Given the description of an element on the screen output the (x, y) to click on. 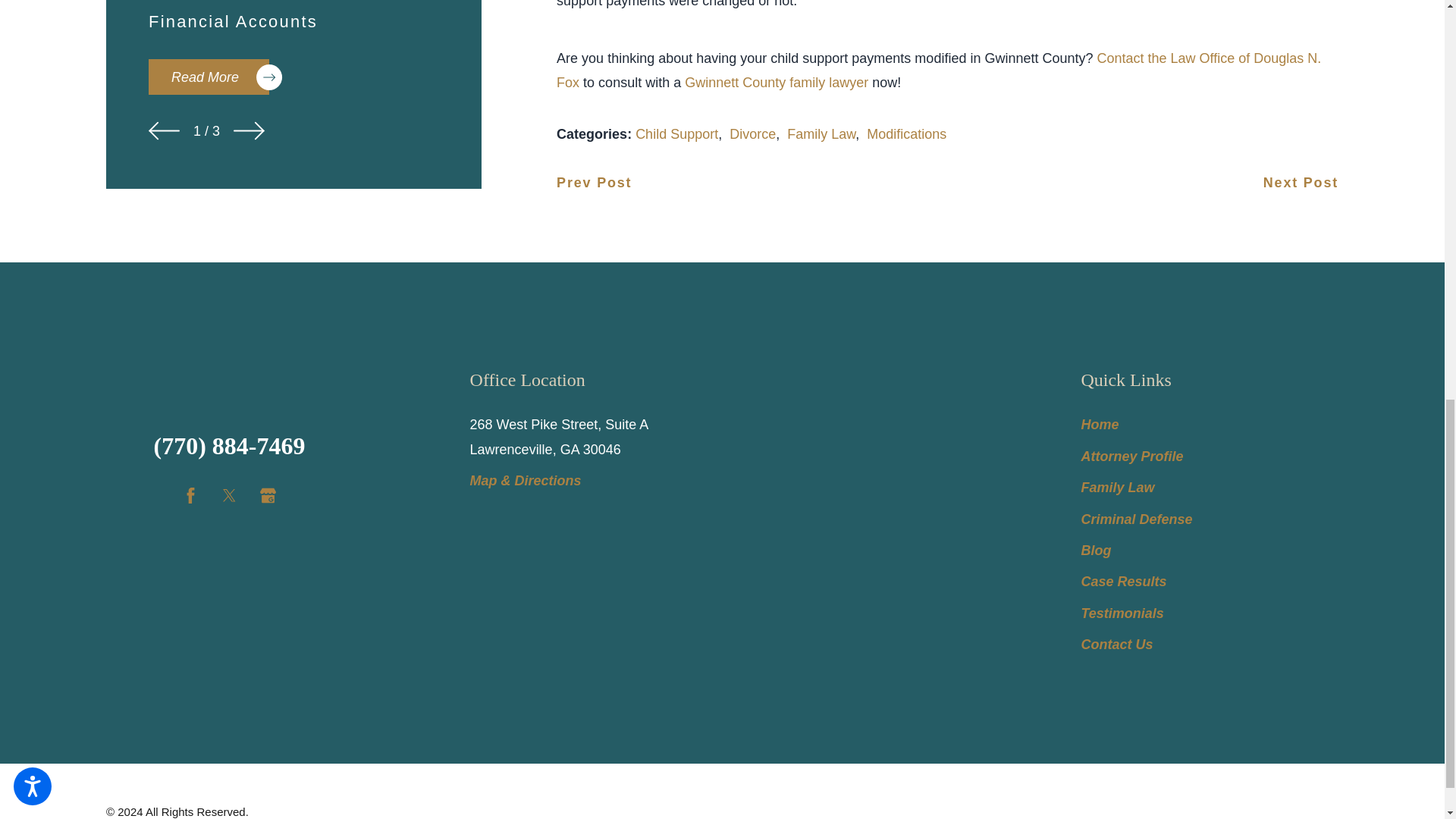
Facebook (190, 495)
View next item (248, 130)
View previous item (163, 130)
Twitter (229, 495)
Google Business Profile (268, 495)
